Given the description of an element on the screen output the (x, y) to click on. 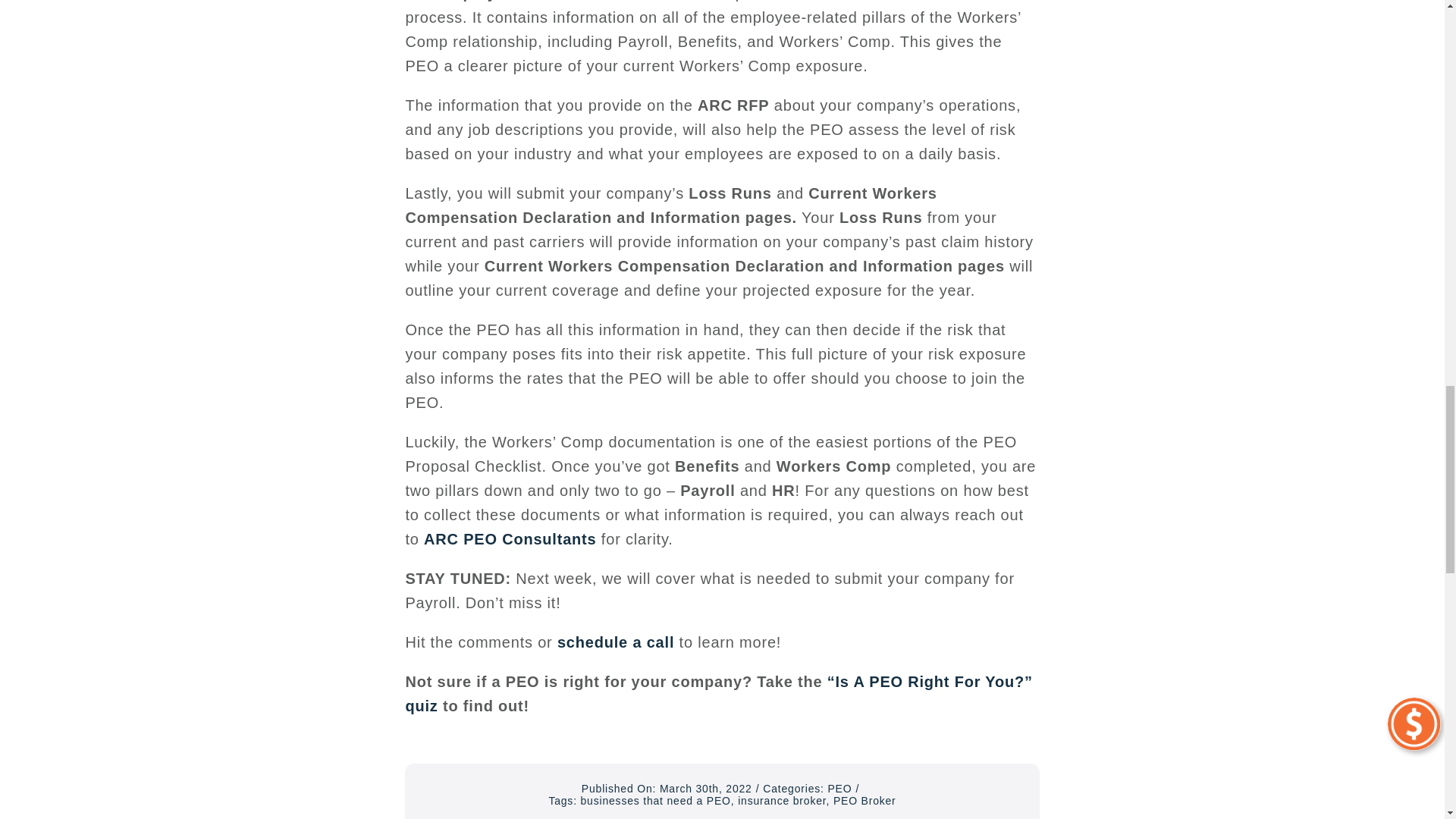
schedule a call (615, 641)
ARC PEO Consultants (509, 538)
